Given the description of an element on the screen output the (x, y) to click on. 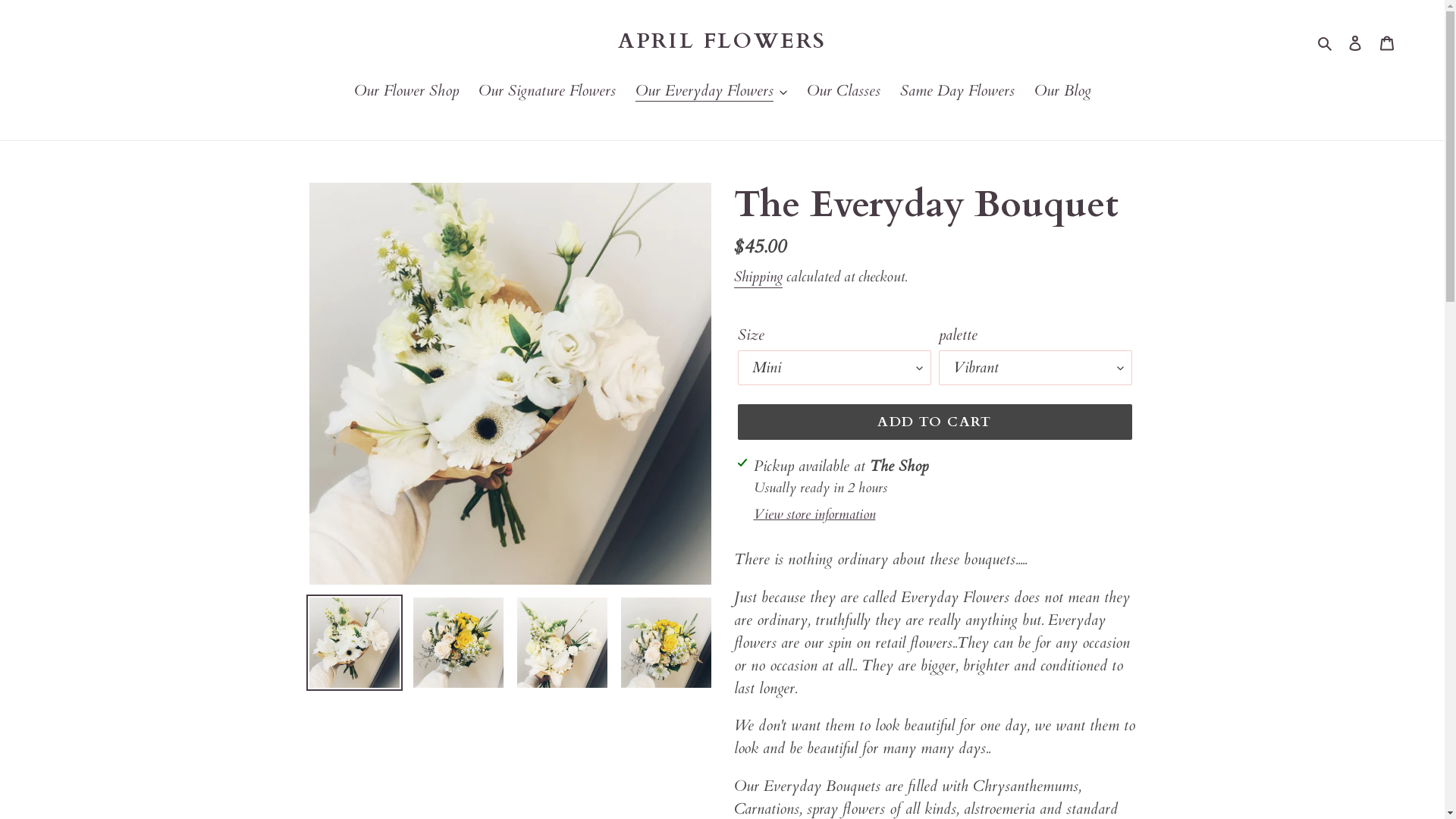
Same Day Flowers Element type: text (956, 91)
ADD TO CART Element type: text (934, 421)
APRIL FLOWERS Element type: text (722, 41)
Shipping Element type: text (758, 277)
Our Everyday Flowers Element type: text (710, 91)
Our Blog Element type: text (1062, 91)
Our Flower Shop Element type: text (405, 91)
Our Signature Flowers Element type: text (546, 91)
Search Element type: text (1325, 41)
Our Classes Element type: text (843, 91)
View store information Element type: text (814, 514)
Log in Element type: text (1355, 41)
Cart Element type: text (1386, 41)
